Given the description of an element on the screen output the (x, y) to click on. 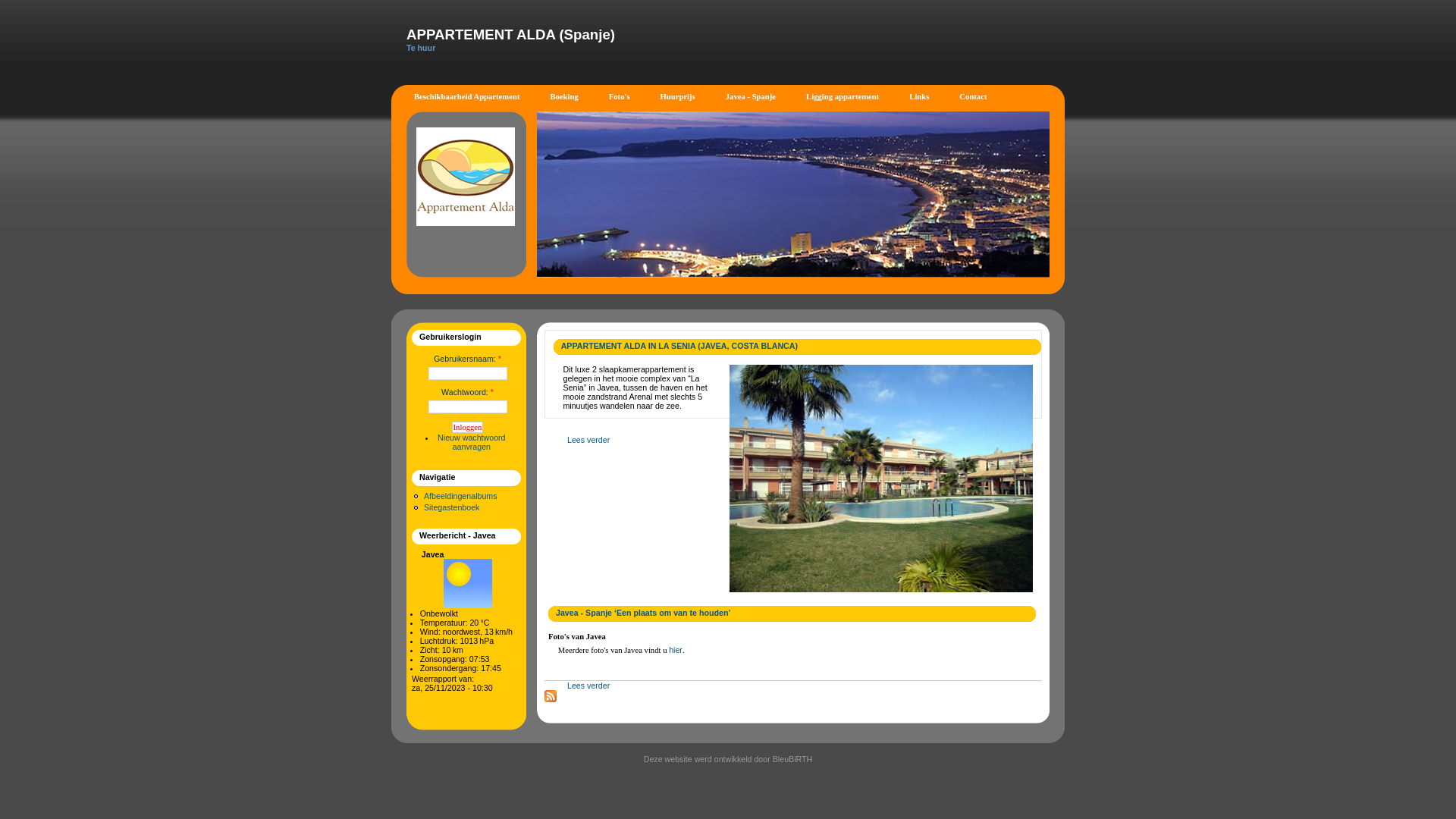
Lees verder Element type: text (588, 685)
Deze website werd ontwikkeld door BleuBiRTH Element type: text (727, 758)
Afbeeldingenalbums Element type: text (460, 495)
Javea - Spanje Element type: text (750, 96)
Lees verder Element type: text (588, 439)
APPARTEMENT ALDA IN LA SENIA (JAVEA, COSTA BLANCA) Element type: text (679, 345)
Huurprijs Element type: text (677, 96)
APPARTEMENT ALDA (Spanje) Element type: text (510, 34)
Sitegastenboek Element type: text (451, 506)
Boeking Element type: text (563, 96)
APPARTEMENT ALDA (Spanje) RSS Element type: hover (550, 696)
Ligging appartement Element type: text (842, 96)
Beschikbaarheid Appartement Element type: text (466, 96)
Contact Element type: text (972, 96)
Links Element type: text (919, 96)
hier Element type: text (675, 649)
La Senia Element type: hover (880, 478)
Foto's Element type: text (619, 96)
Nieuw wachtwoord aanvragen Element type: text (471, 442)
Inloggen Element type: text (467, 427)
Onbewolkt Element type: hover (466, 582)
